Given the description of an element on the screen output the (x, y) to click on. 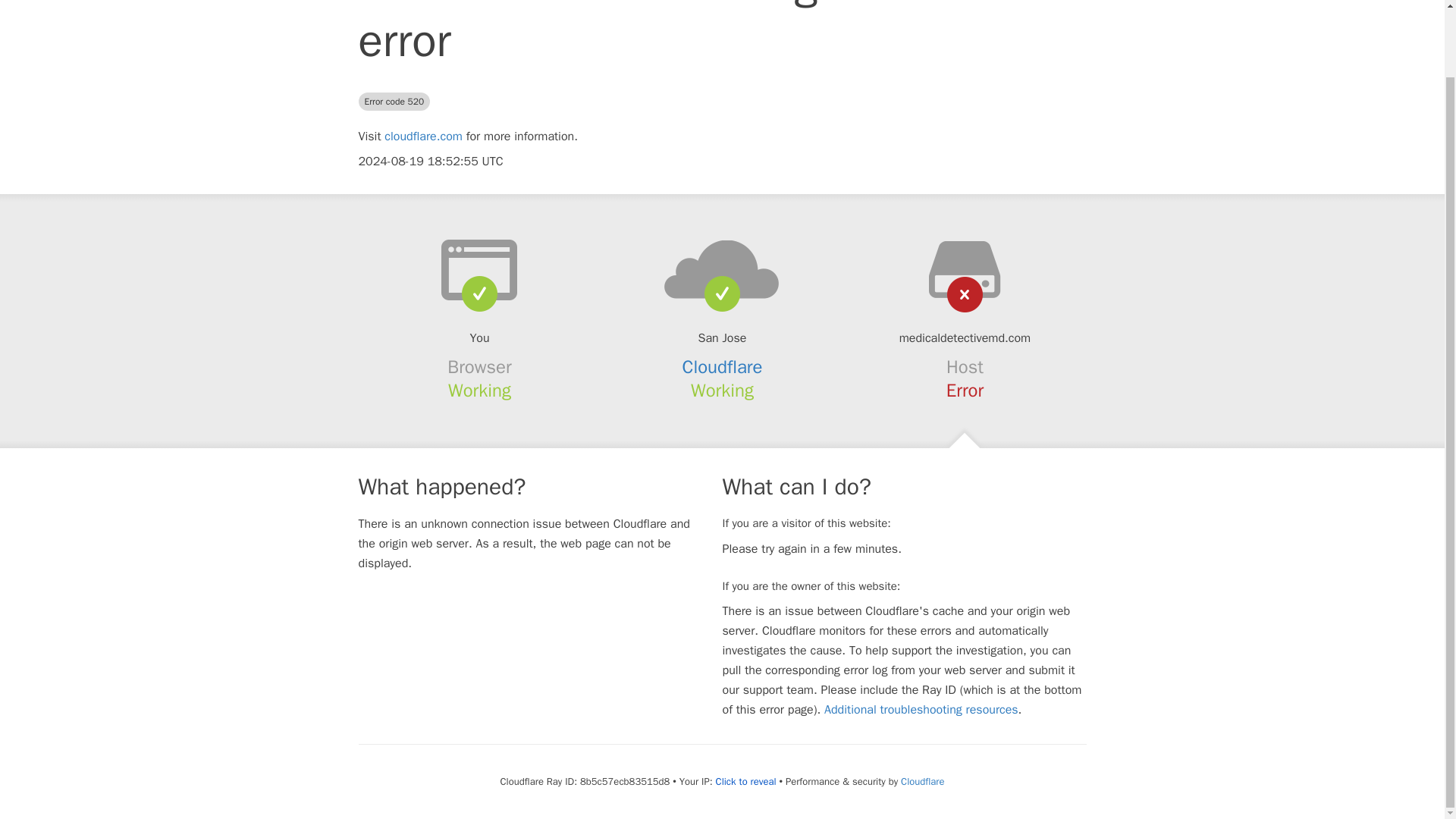
Additional troubleshooting resources (920, 709)
Cloudflare (722, 366)
cloudflare.com (423, 136)
Click to reveal (746, 781)
Cloudflare (922, 780)
